Given the description of an element on the screen output the (x, y) to click on. 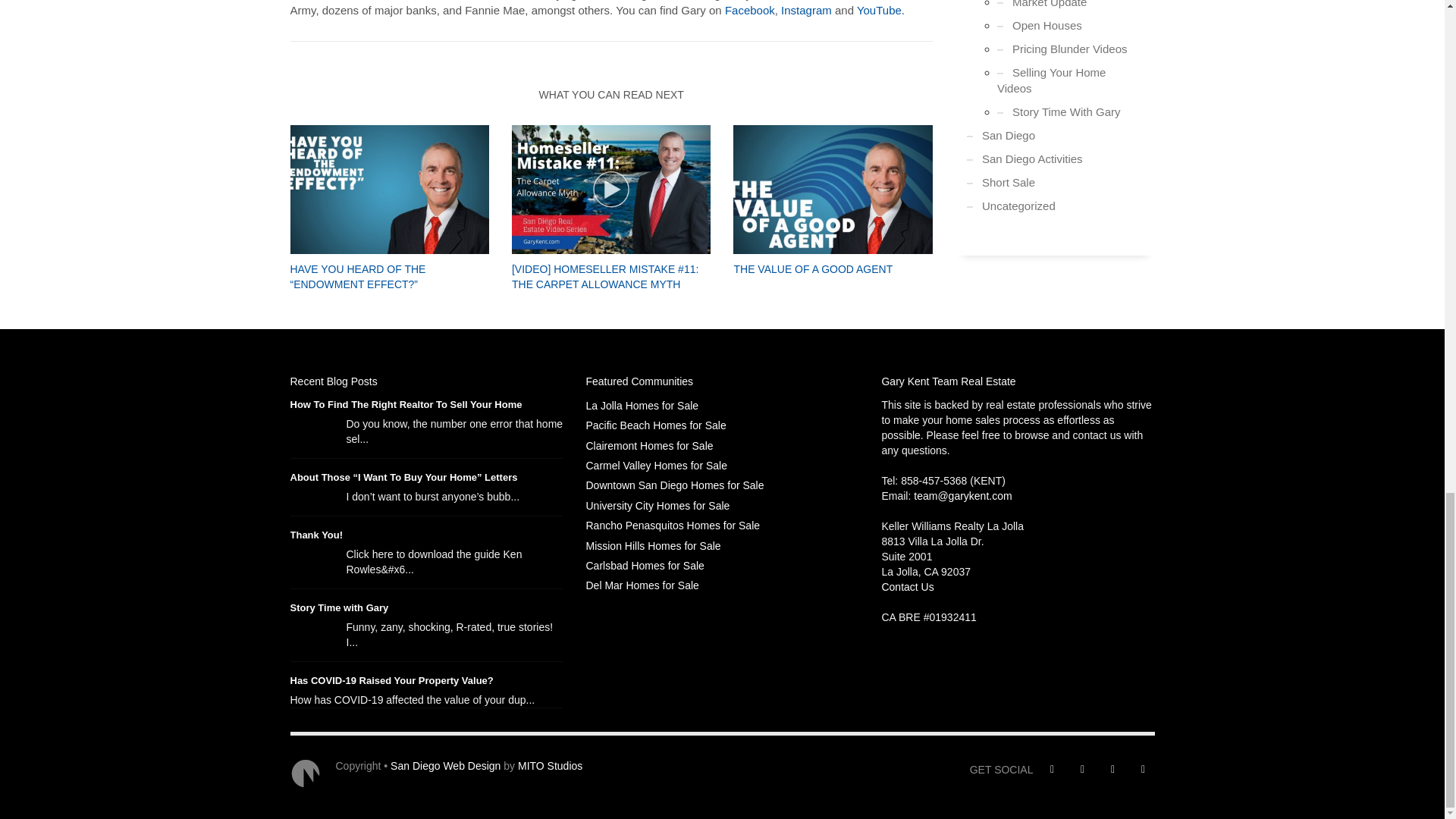
GaryKentFI1.24 (832, 189)
garyfi18 (388, 189)
Has COVID-19 Raised Your Property Value? (391, 680)
Story Time with Gary (338, 607)
Thank You! (315, 534)
How To Find The Right Realtor To Sell Your Home (405, 404)
